Given the description of an element on the screen output the (x, y) to click on. 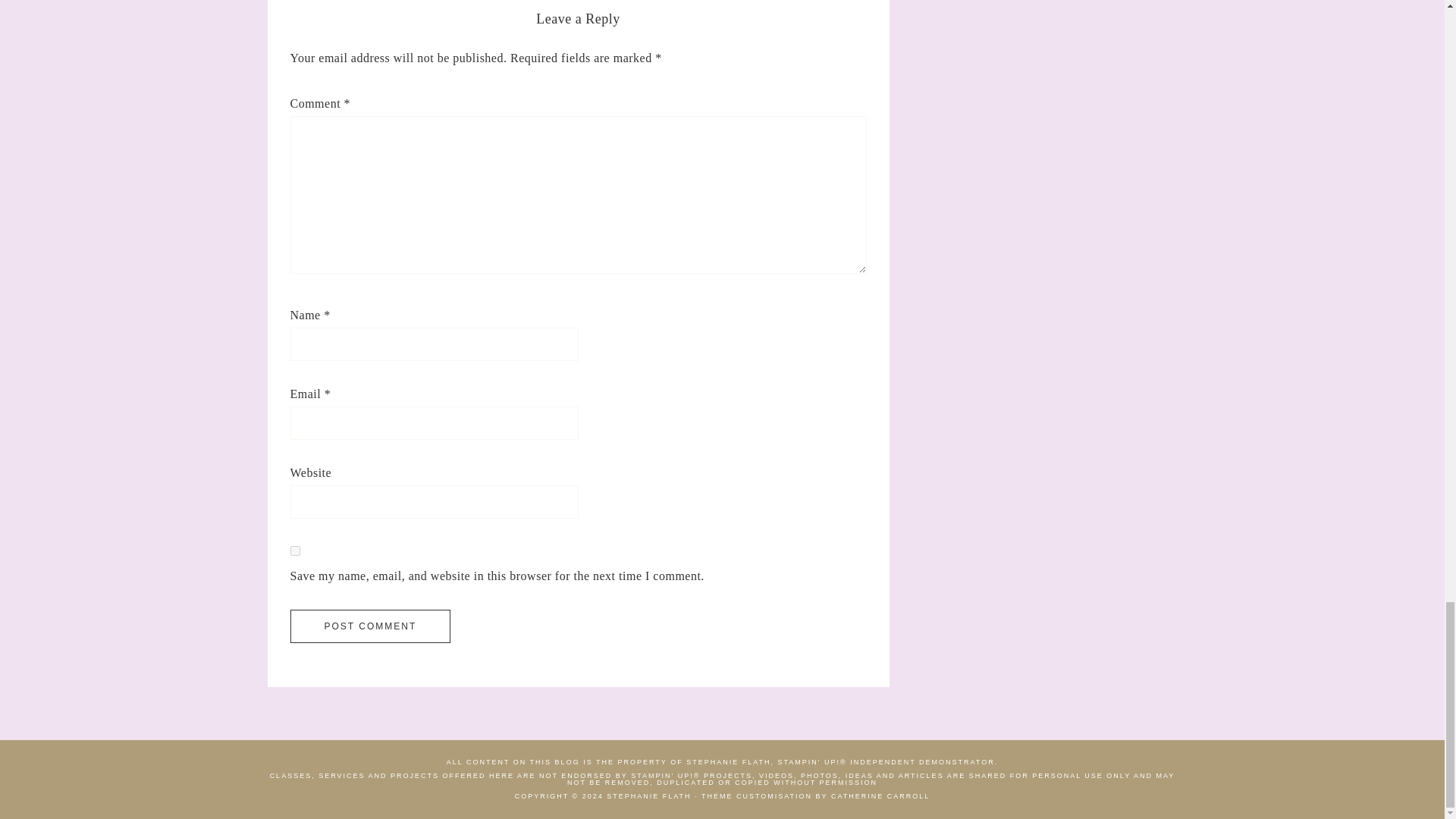
yes (294, 551)
Post Comment (369, 625)
Post Comment (369, 625)
